Given the description of an element on the screen output the (x, y) to click on. 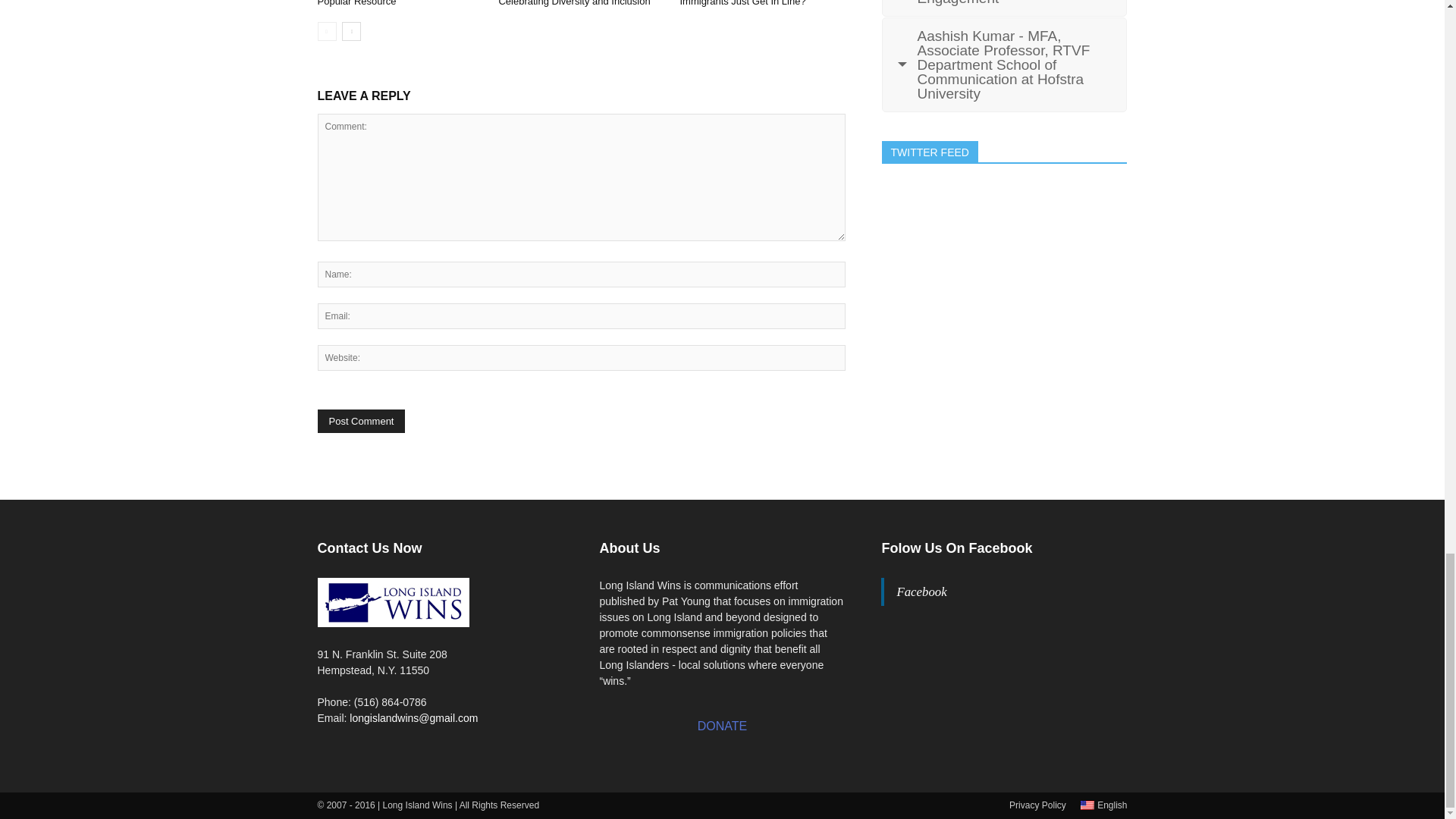
Post Comment (360, 421)
